Given the description of an element on the screen output the (x, y) to click on. 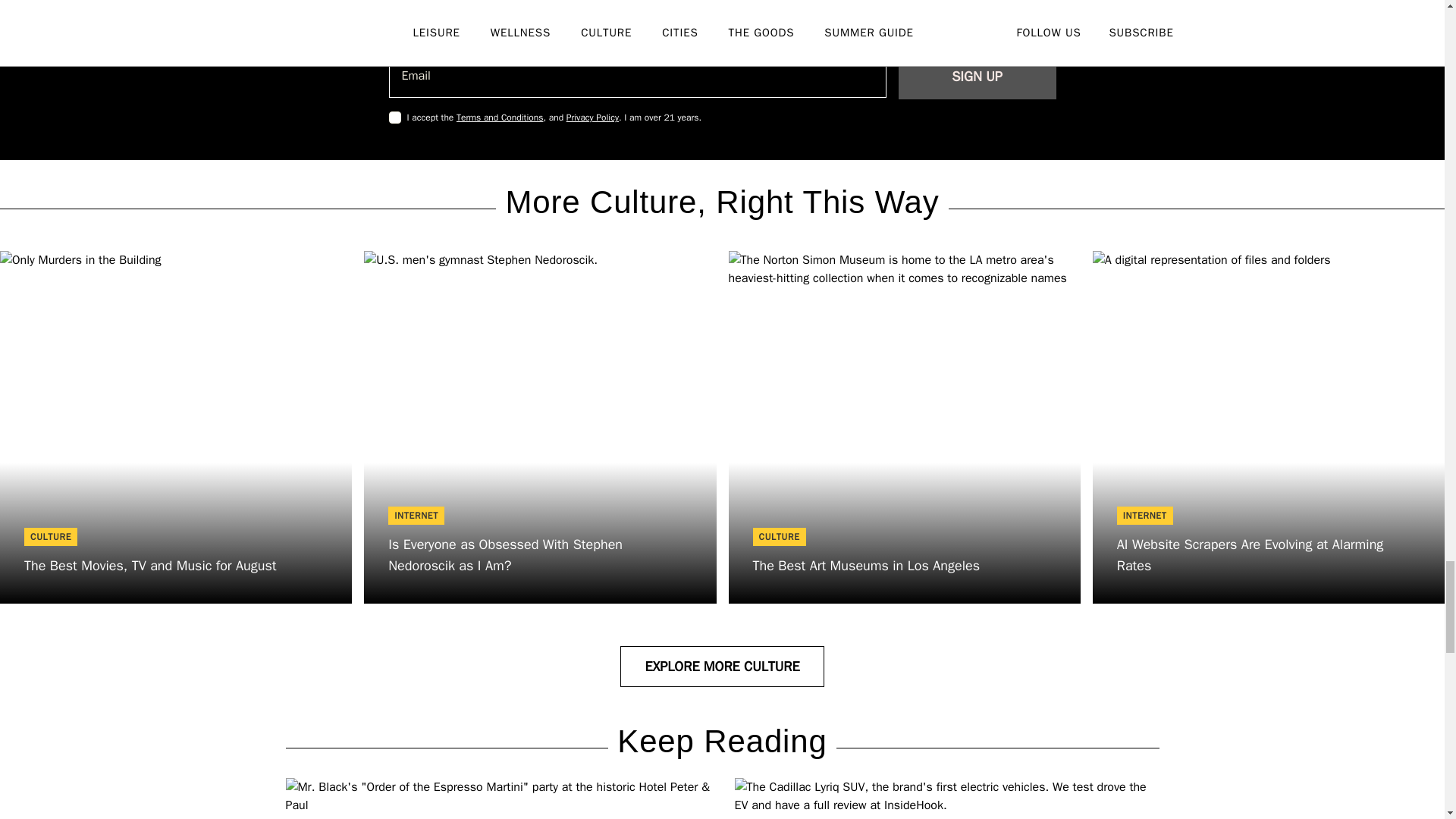
on (394, 117)
